Given the description of an element on the screen output the (x, y) to click on. 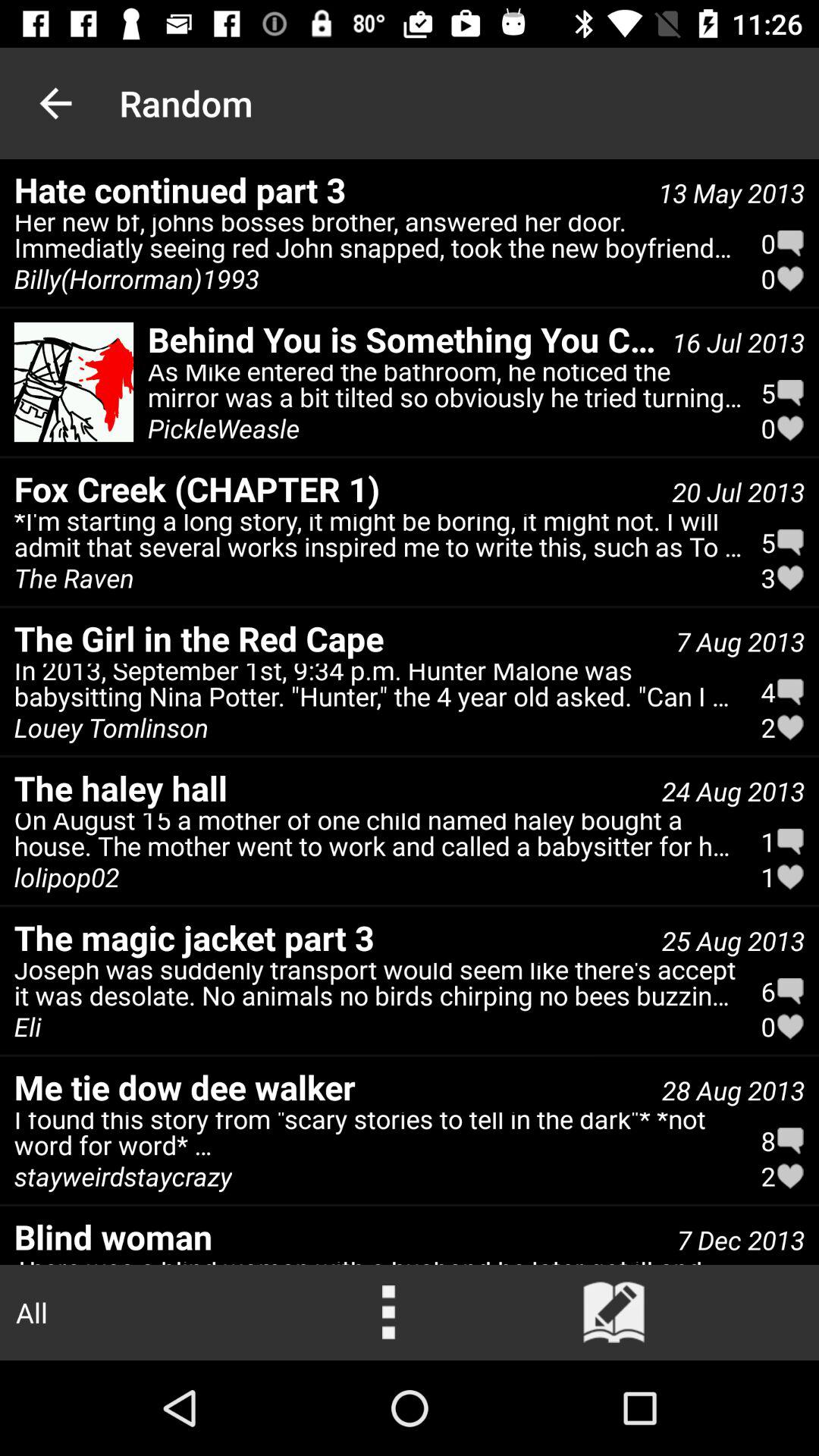
turn on the item to the left of 1 item (66, 876)
